Given the description of an element on the screen output the (x, y) to click on. 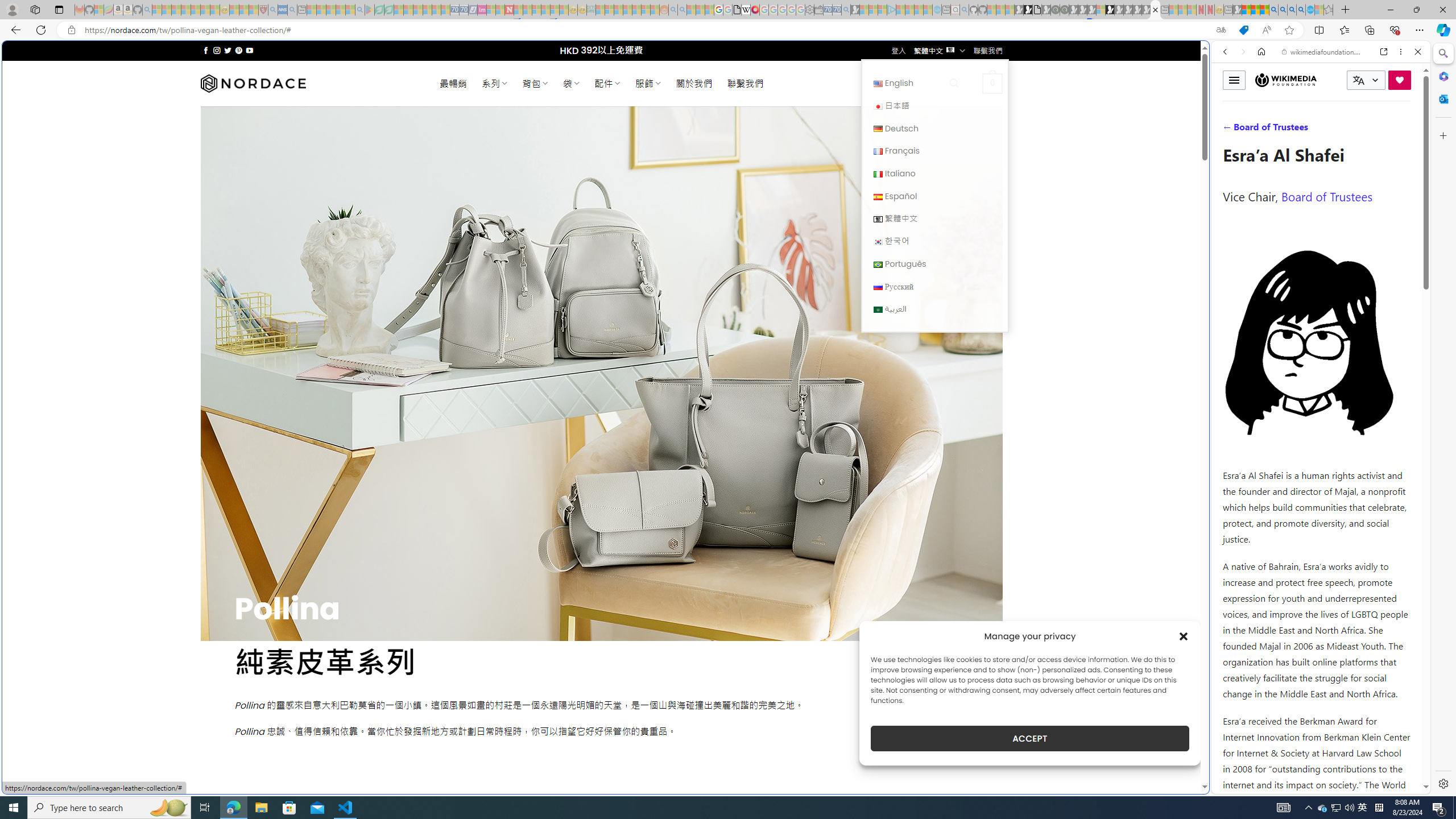
2009 Bing officially replaced Live Search on June 3 - Search (1283, 9)
Class: cmplz-close (1183, 636)
MSN - Sleeping (1236, 9)
